Given the description of an element on the screen output the (x, y) to click on. 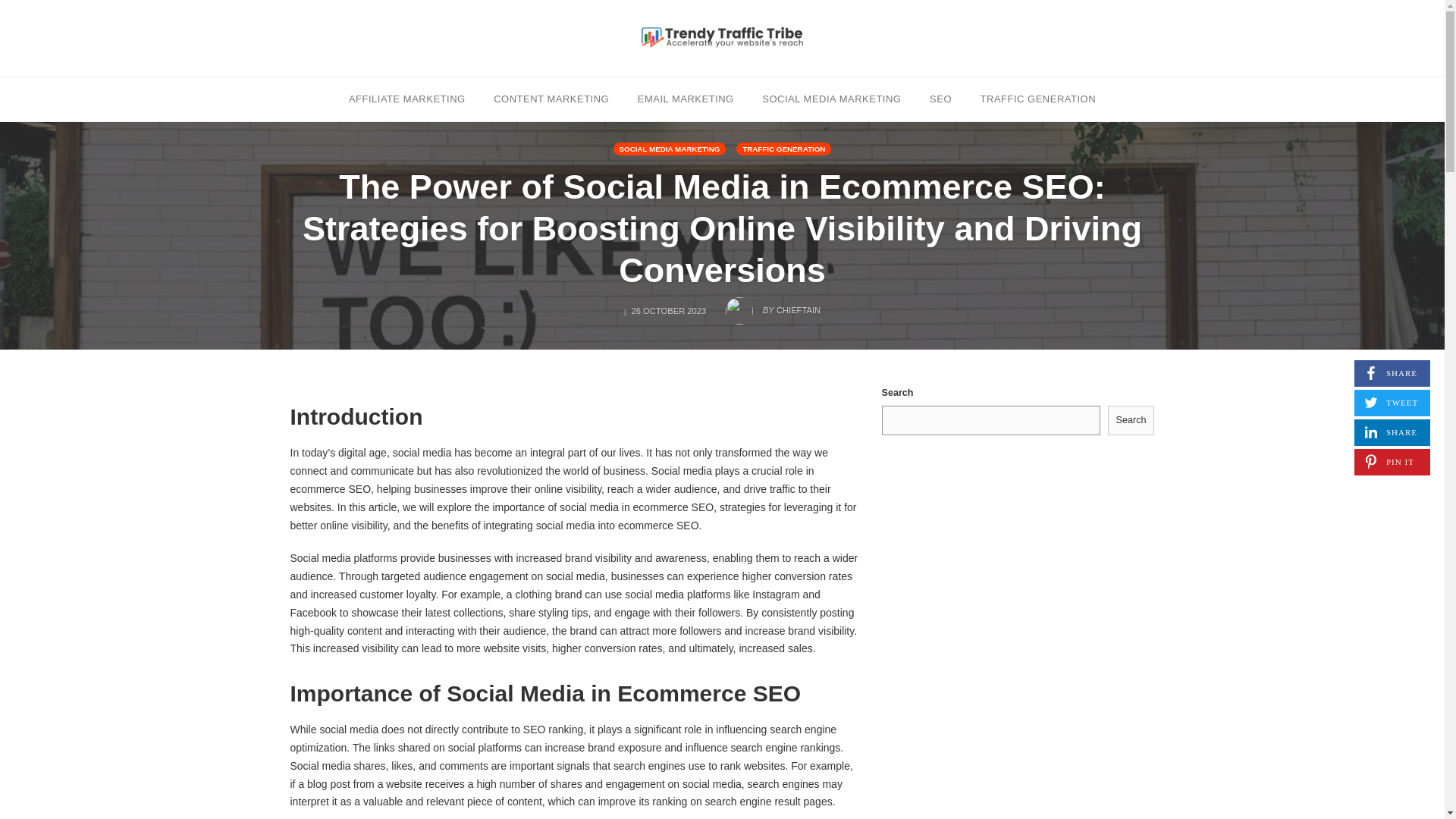
TRAFFIC GENERATION (1391, 432)
AFFILIATE MARKETING (1037, 97)
Skip to content (407, 97)
CONTENT MARKETING (1391, 373)
Trendy Traffic Tribe (550, 97)
SOCIAL MEDIA MARKETING (1131, 419)
SEO (722, 37)
EMAIL MARKETING (831, 97)
BY CHIEFTAIN (940, 97)
TRAFFIC GENERATION (685, 97)
SOCIAL MEDIA MARKETING (773, 306)
